Given the description of an element on the screen output the (x, y) to click on. 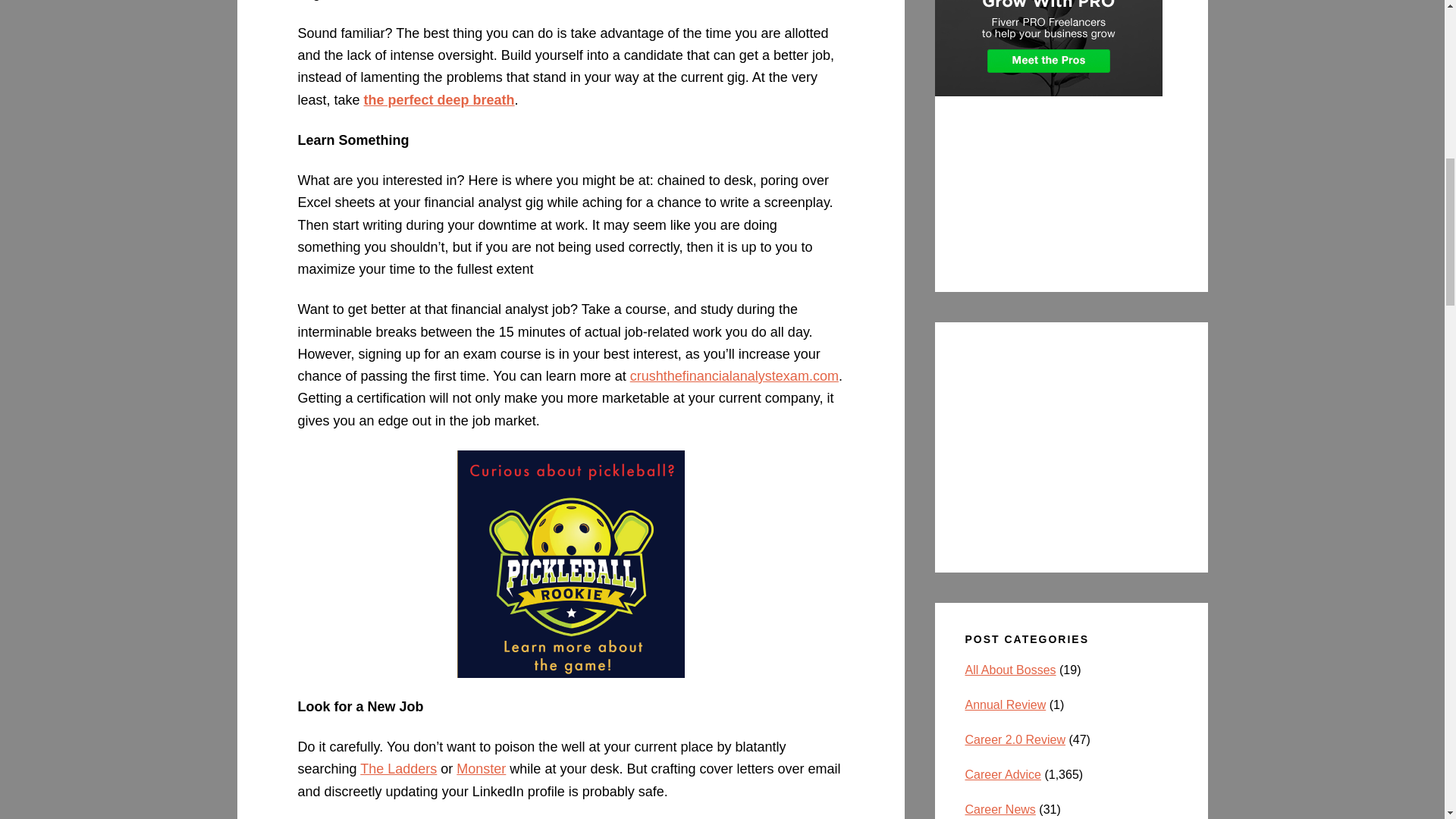
crushthefinancialanalystexam.com (734, 376)
The Ladders (397, 768)
Monster (481, 768)
the perfect deep breath (439, 99)
